Given the description of an element on the screen output the (x, y) to click on. 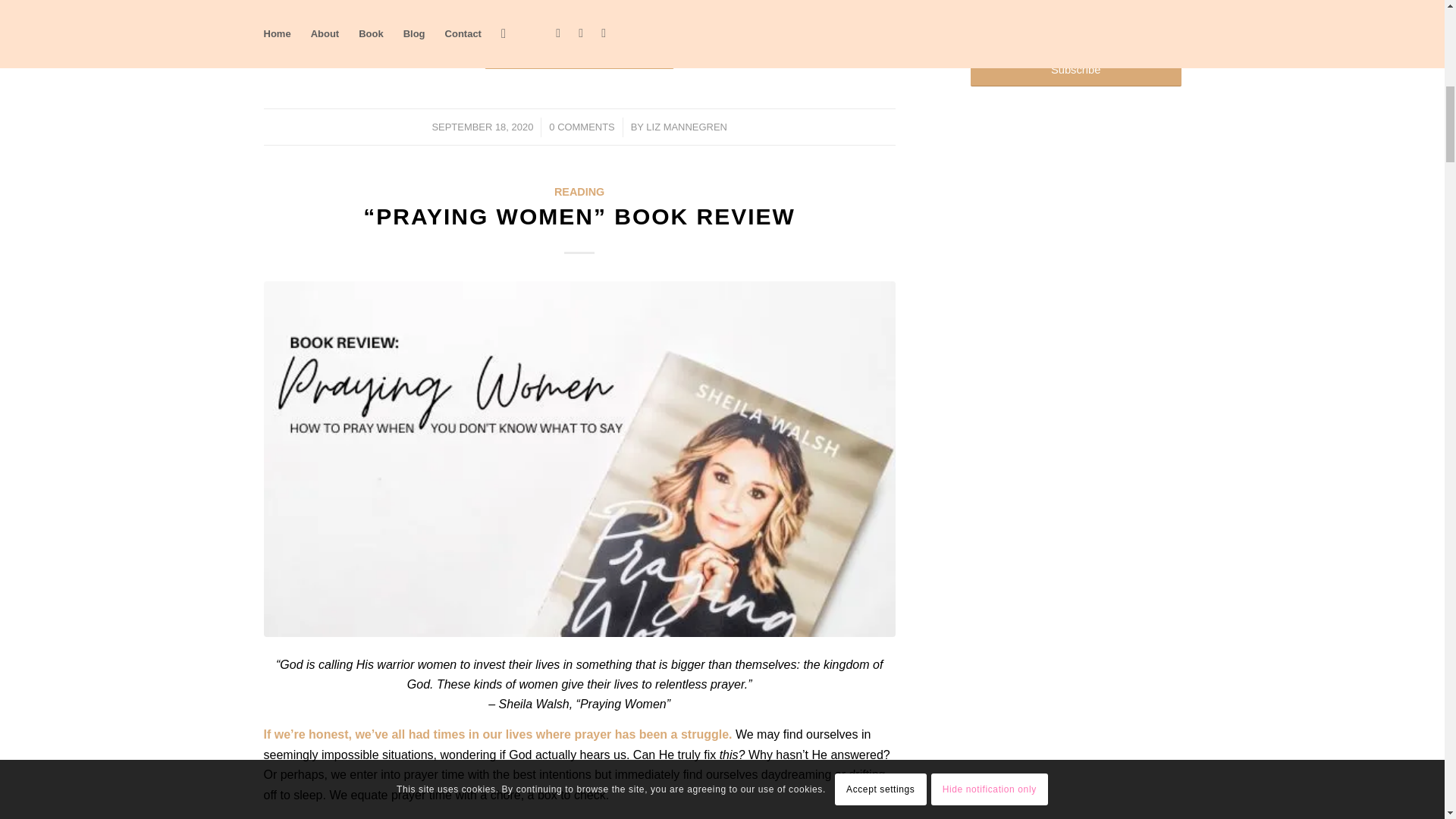
Posts by Liz Mannegren (686, 126)
LIZ MANNEGREN (686, 126)
Subscribe (1075, 70)
Read more (579, 49)
0 COMMENTS (581, 126)
READING (579, 191)
